Given the description of an element on the screen output the (x, y) to click on. 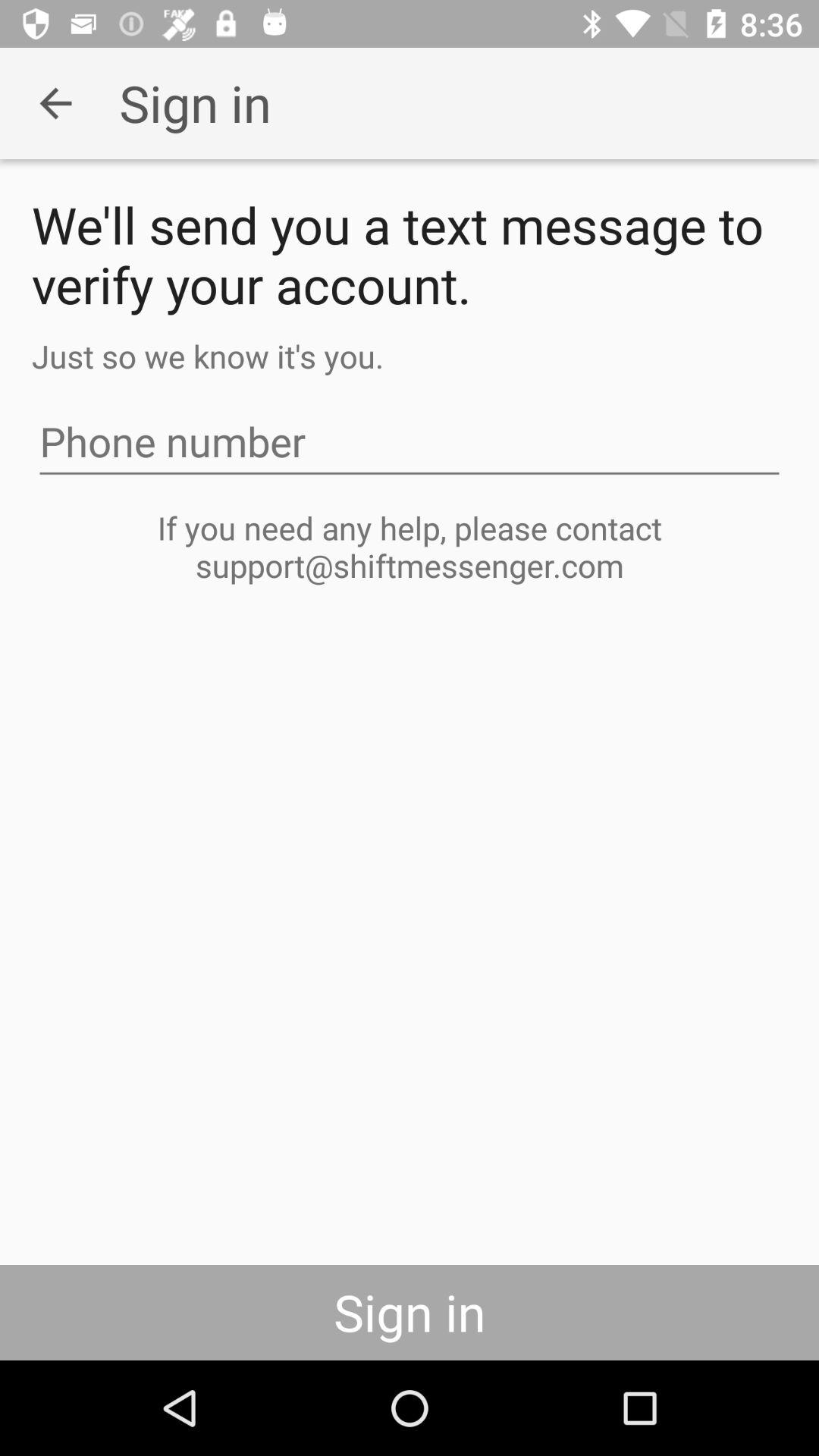
open the icon next to the sign in icon (55, 103)
